Given the description of an element on the screen output the (x, y) to click on. 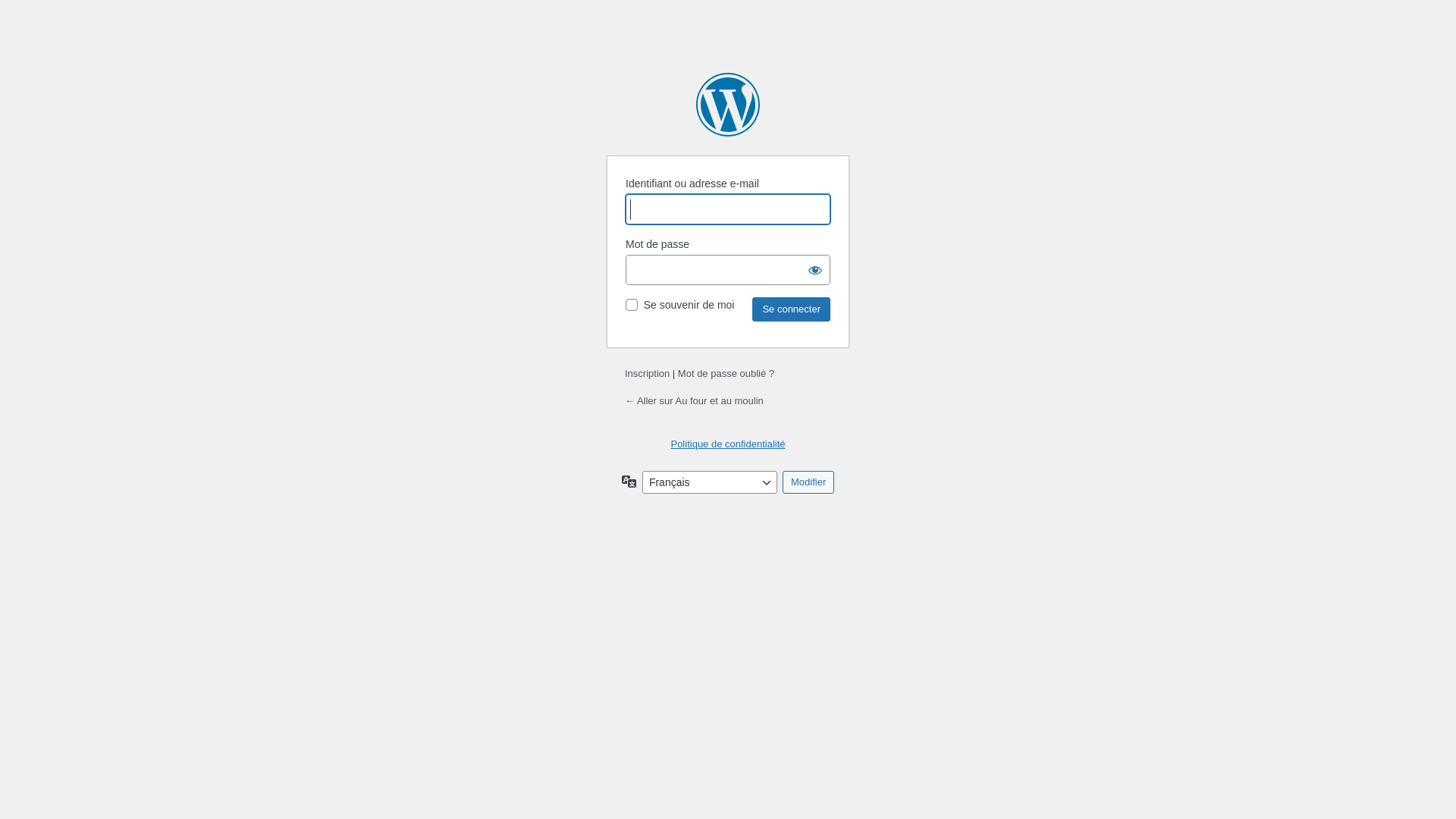
Inscription Element type: text (646, 373)
Modifier Element type: text (808, 481)
Se connecter Element type: text (791, 309)
